Given the description of an element on the screen output the (x, y) to click on. 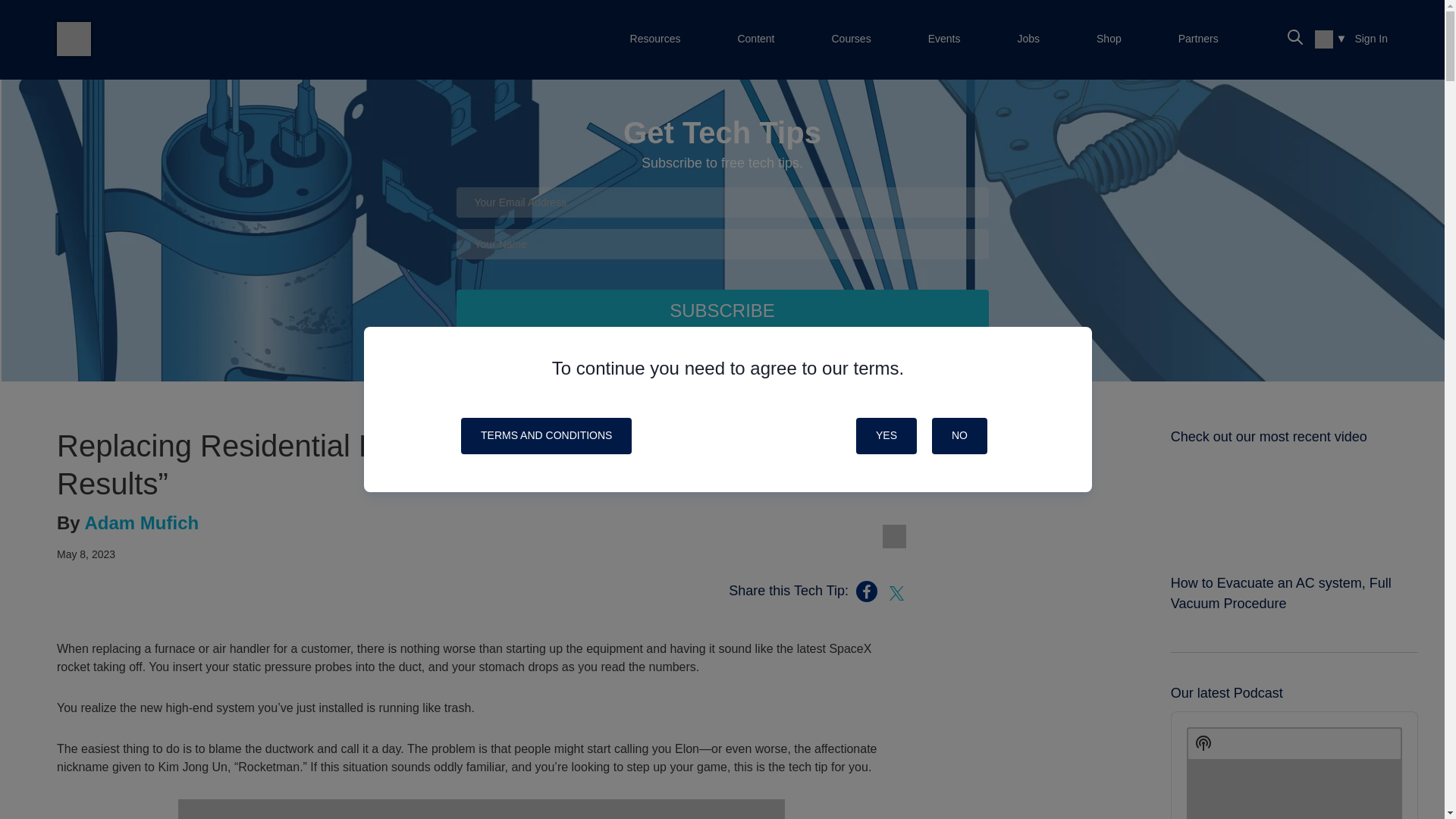
Courses (850, 38)
Partners (1197, 38)
Events (944, 38)
Subscribe (722, 310)
Jobs (1027, 38)
Shop (1108, 38)
Content (755, 38)
Resources (655, 38)
